Given the description of an element on the screen output the (x, y) to click on. 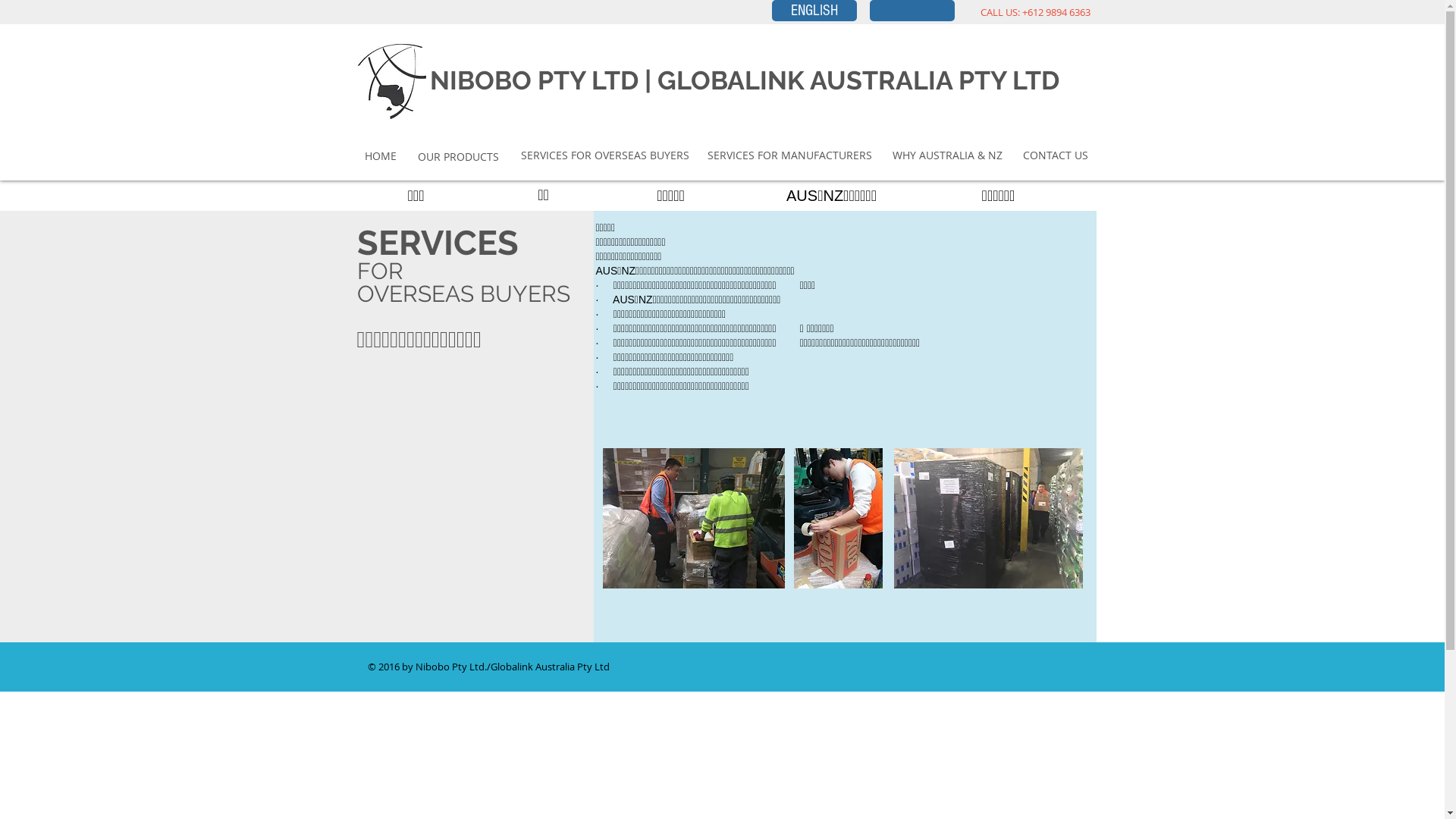
HOME Element type: text (380, 156)
SERVICES FOR MANUFACTURERS Element type: text (789, 155)
WHY AUSTRALIA & NZ Element type: text (947, 155)
OUR PRODUCTS Element type: text (457, 156)
NIBOBO PTY LTD Element type: text (533, 80)
ENGLISH Element type: text (813, 10)
CONTACT US Element type: text (1054, 155)
SERVICES FOR OVERSEAS BUYERS Element type: text (604, 155)
